Given the description of an element on the screen output the (x, y) to click on. 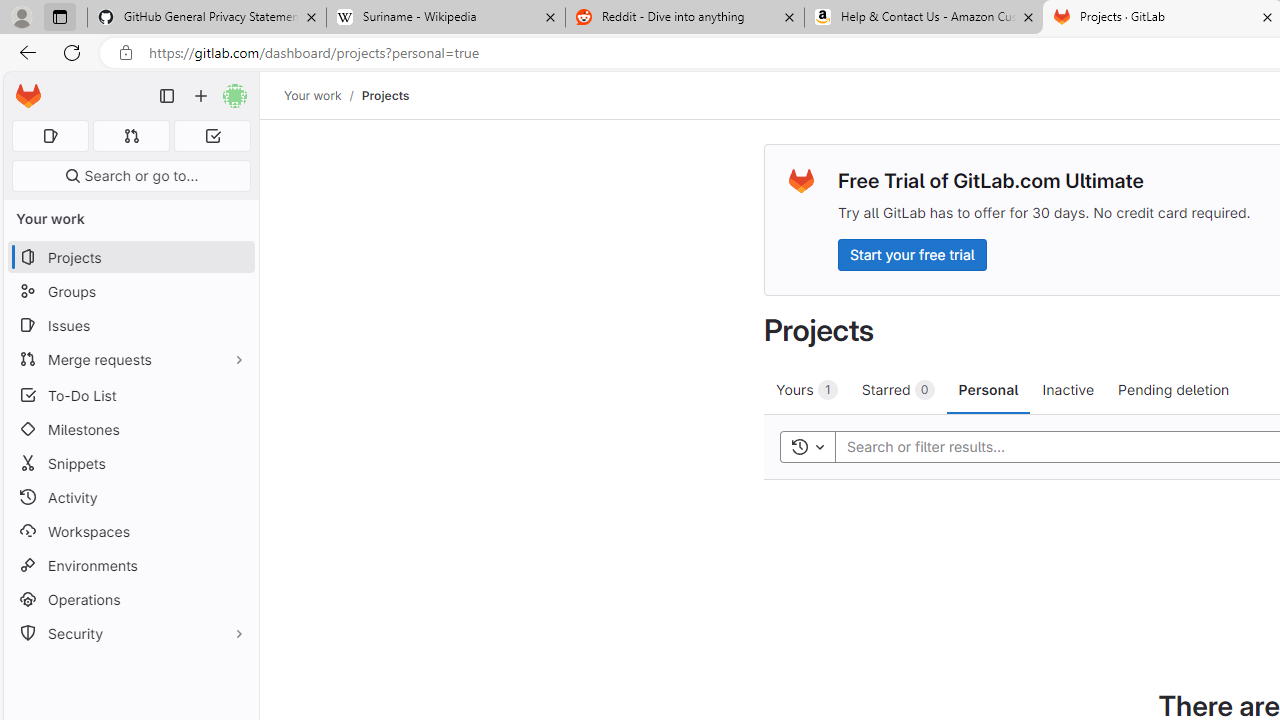
To-Do list 0 (212, 136)
Pending deletion (1173, 389)
Environments (130, 564)
Security (130, 633)
